Given the description of an element on the screen output the (x, y) to click on. 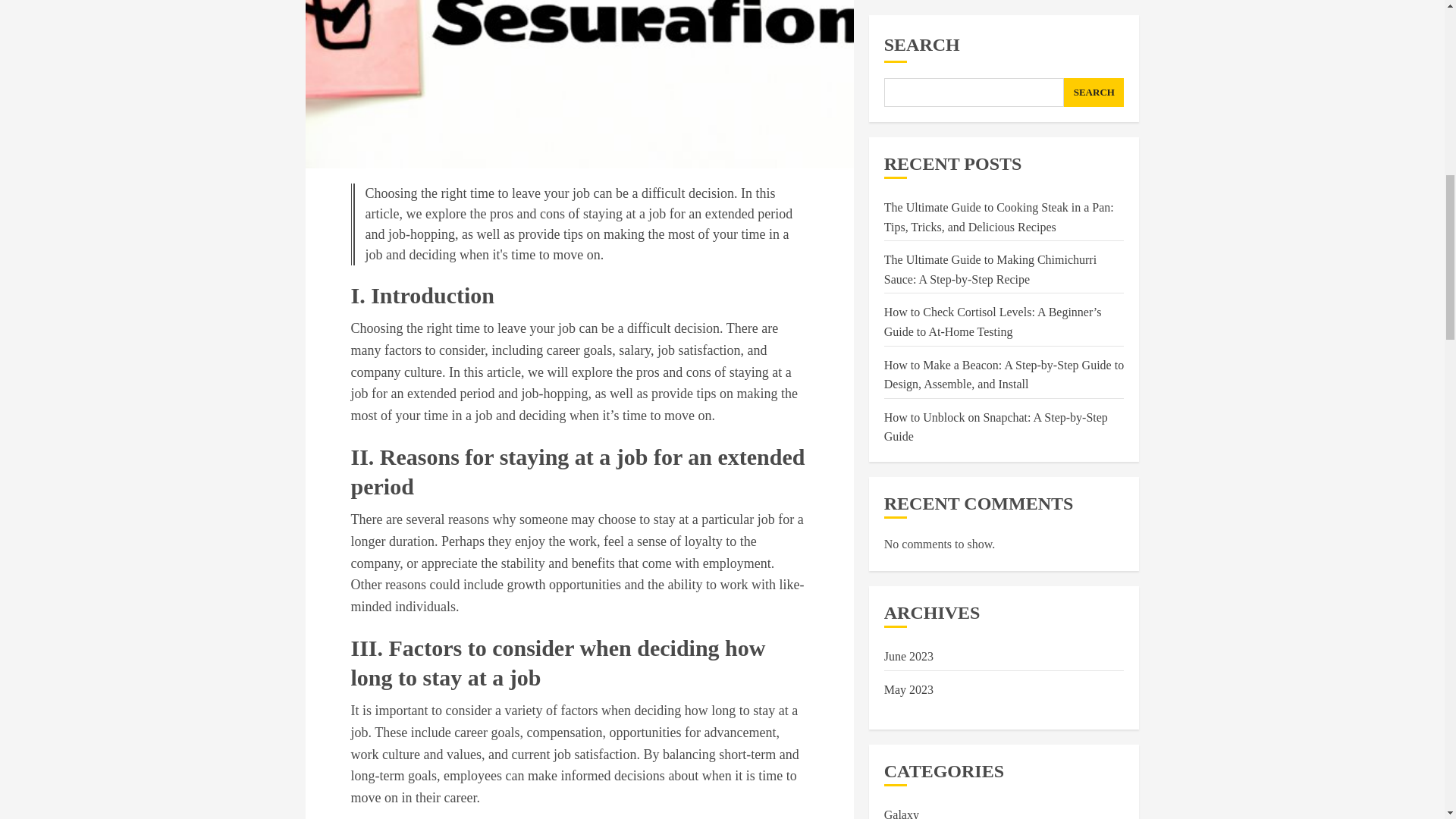
June 2023 (908, 105)
Galaxy (900, 264)
May 2023 (908, 138)
